Given the description of an element on the screen output the (x, y) to click on. 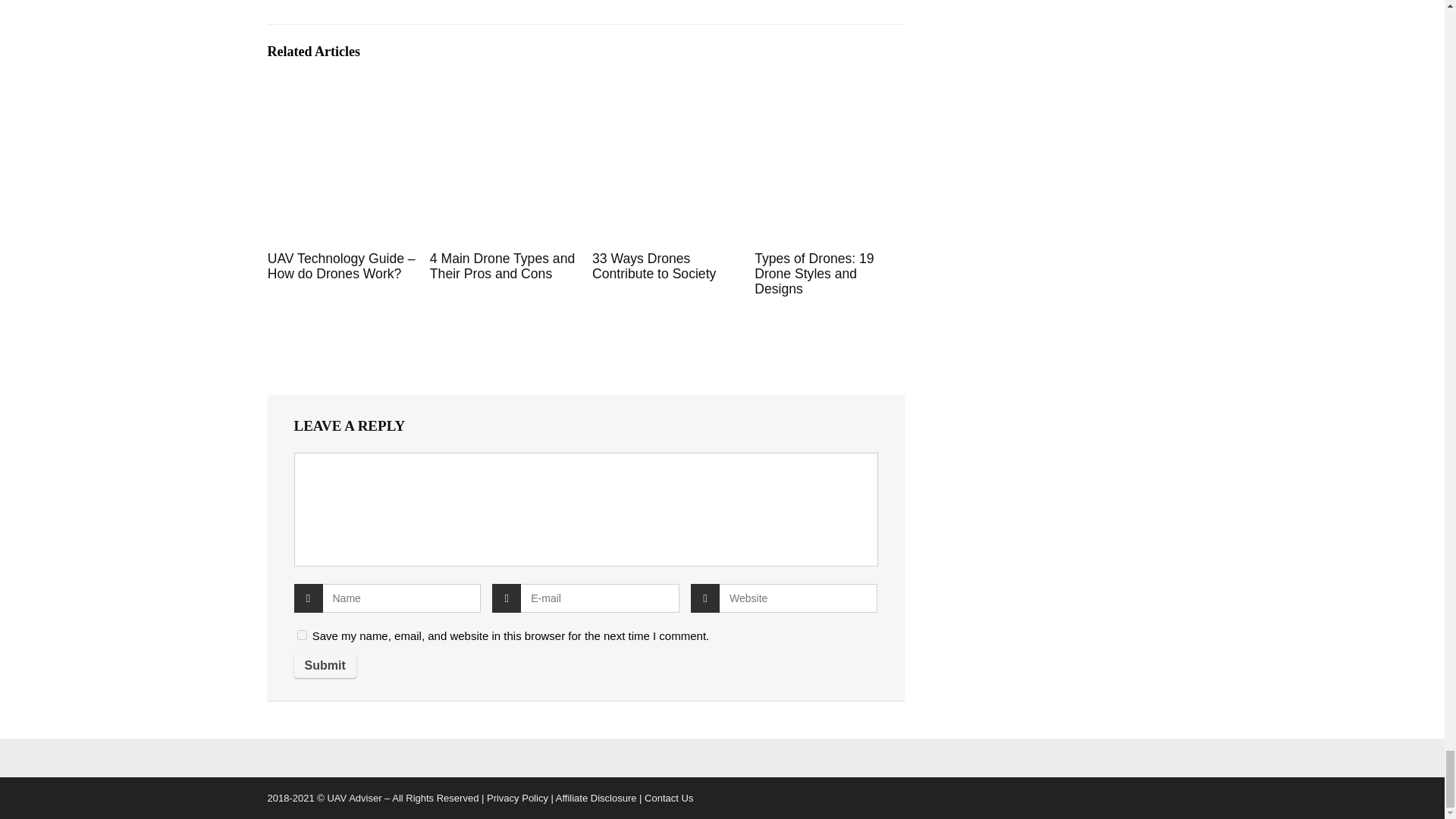
yes (302, 634)
Submit (325, 665)
